Given the description of an element on the screen output the (x, y) to click on. 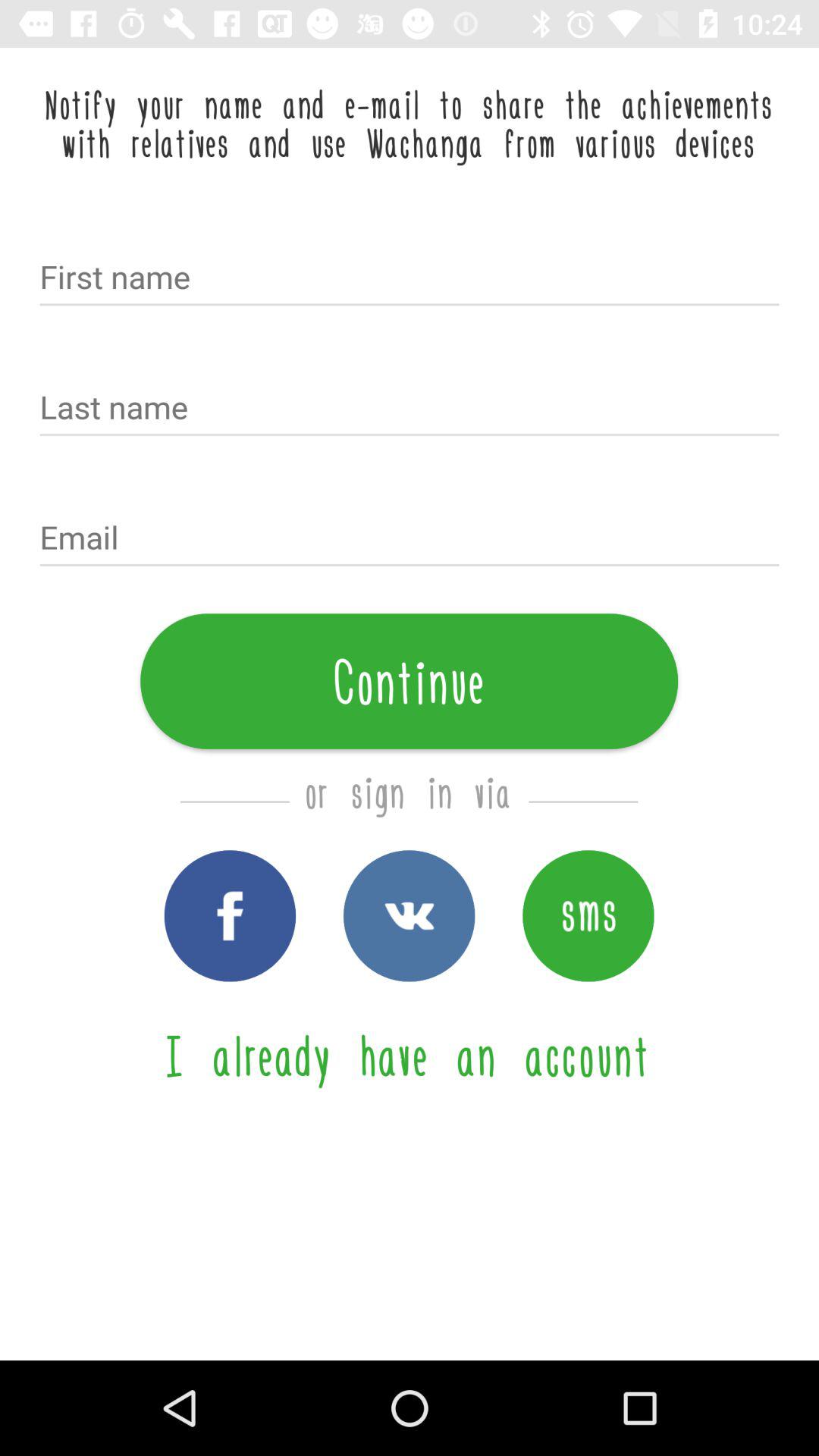
sign in with facebook (229, 915)
